Given the description of an element on the screen output the (x, y) to click on. 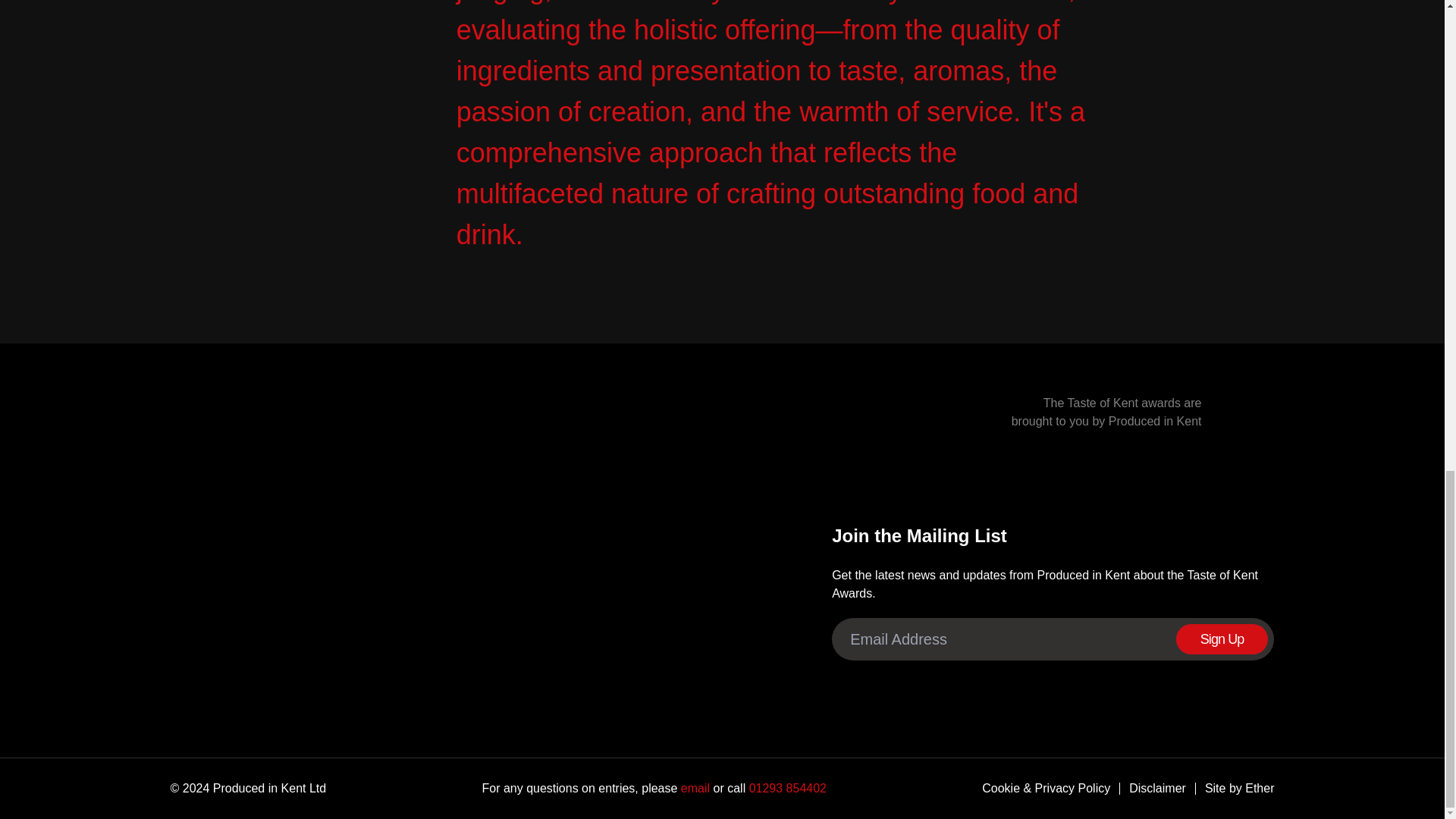
Sign Up (1222, 639)
Disclaimer (1152, 788)
email (693, 788)
Site by Ether (1235, 788)
01293 854402 (786, 788)
